Given the description of an element on the screen output the (x, y) to click on. 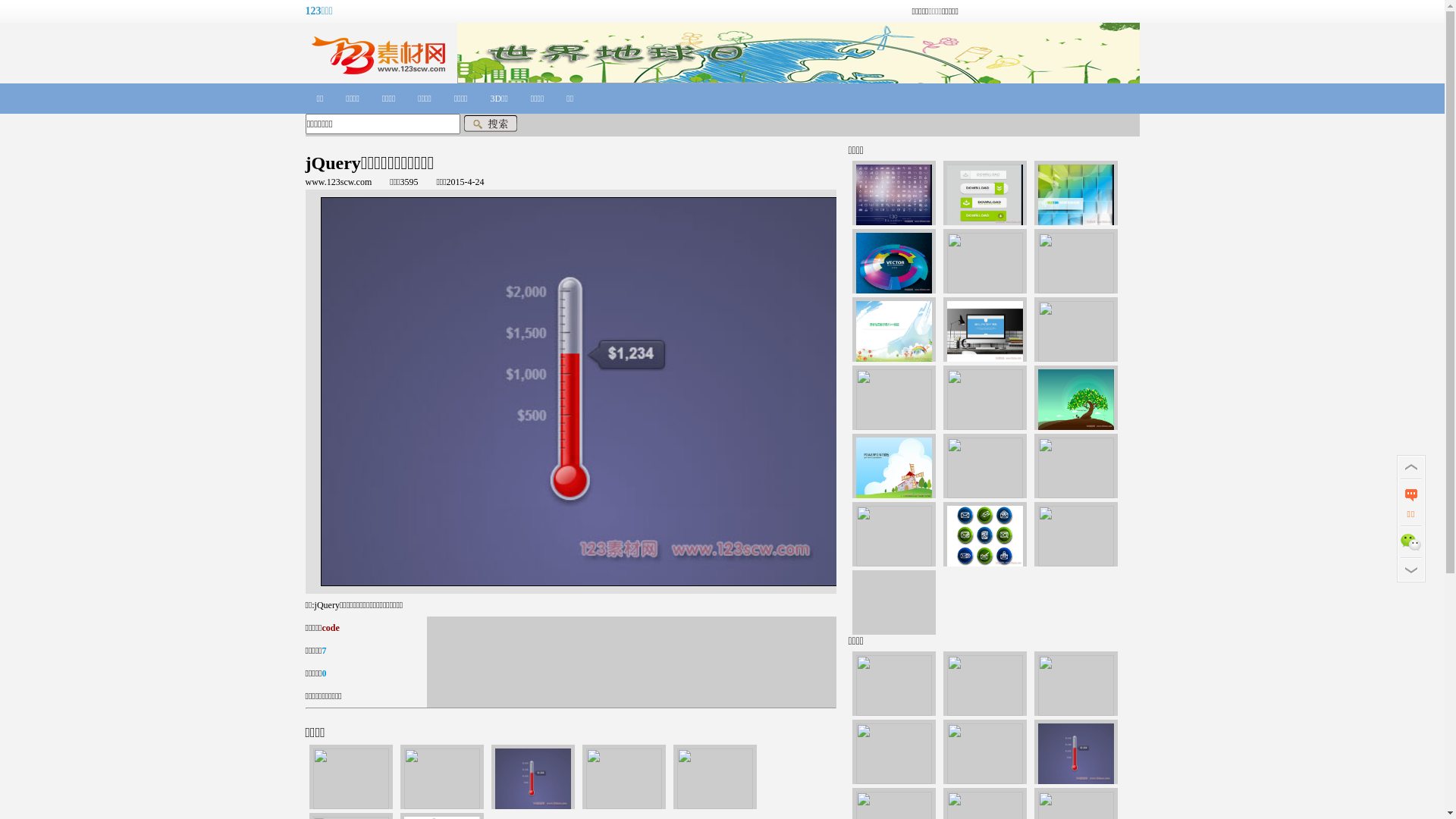
www.123scw.com Element type: text (337, 181)
